Given the description of an element on the screen output the (x, y) to click on. 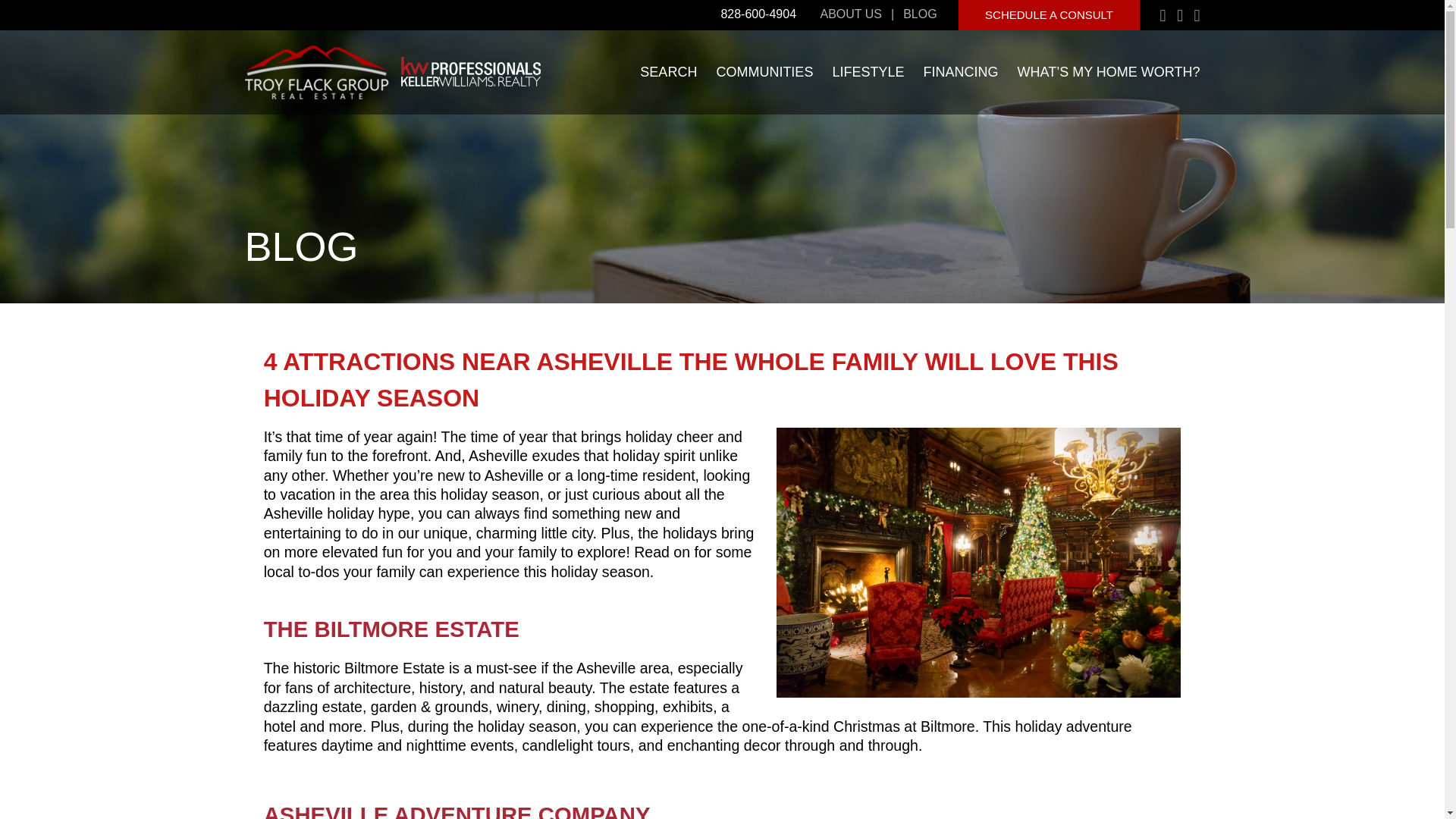
BLOG (919, 14)
SEARCH (668, 72)
FINANCING (960, 72)
SCHEDULE A CONSULT (1049, 15)
828-600-4904 (758, 14)
COMMUNITIES (764, 72)
ABOUT US (850, 14)
LIFESTYLE (867, 72)
